Given the description of an element on the screen output the (x, y) to click on. 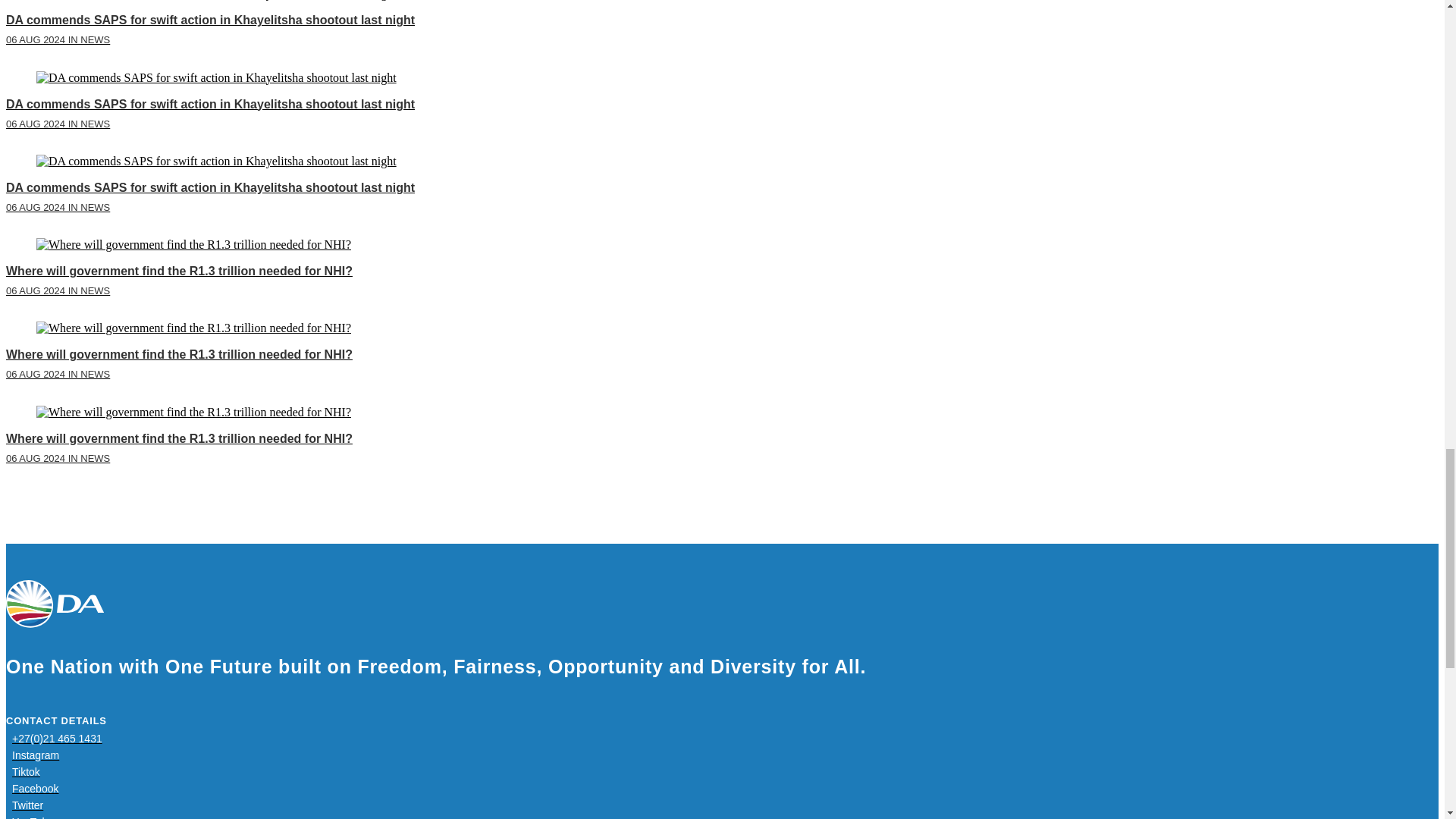
Democratic Alliance Logo (54, 603)
